Given the description of an element on the screen output the (x, y) to click on. 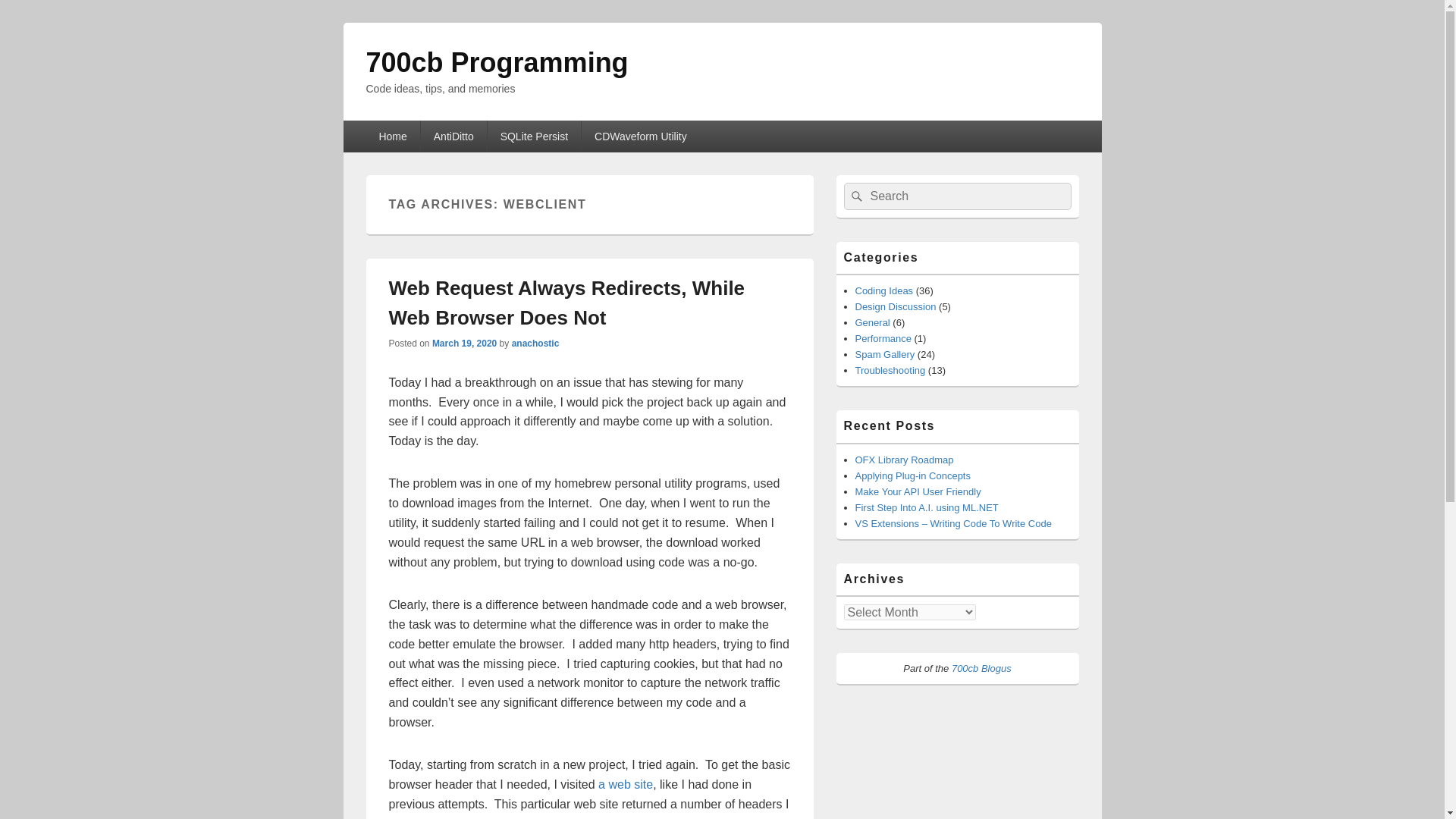
CDWaveform Utility (640, 136)
a web site (625, 784)
View all posts by anachostic (535, 343)
Home (392, 136)
11:53 am (464, 343)
March 19, 2020 (464, 343)
700cb Programming (496, 61)
Search for: (956, 195)
Web Request Always Redirects, While Web Browser Does Not (566, 302)
AntiDitto (453, 136)
anachostic (535, 343)
SQLite Persist (533, 136)
